Given the description of an element on the screen output the (x, y) to click on. 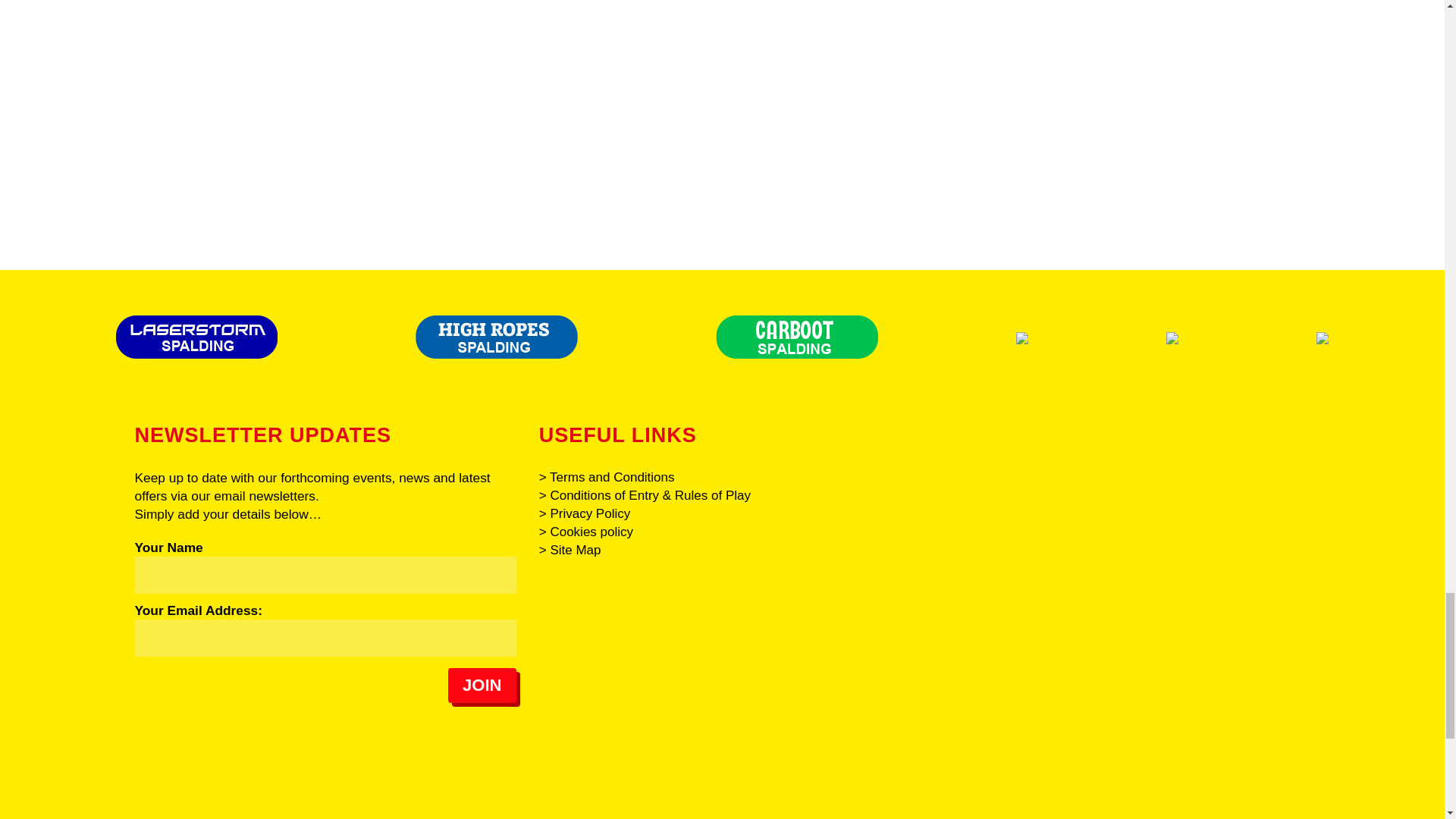
JOIN (482, 685)
